Given the description of an element on the screen output the (x, y) to click on. 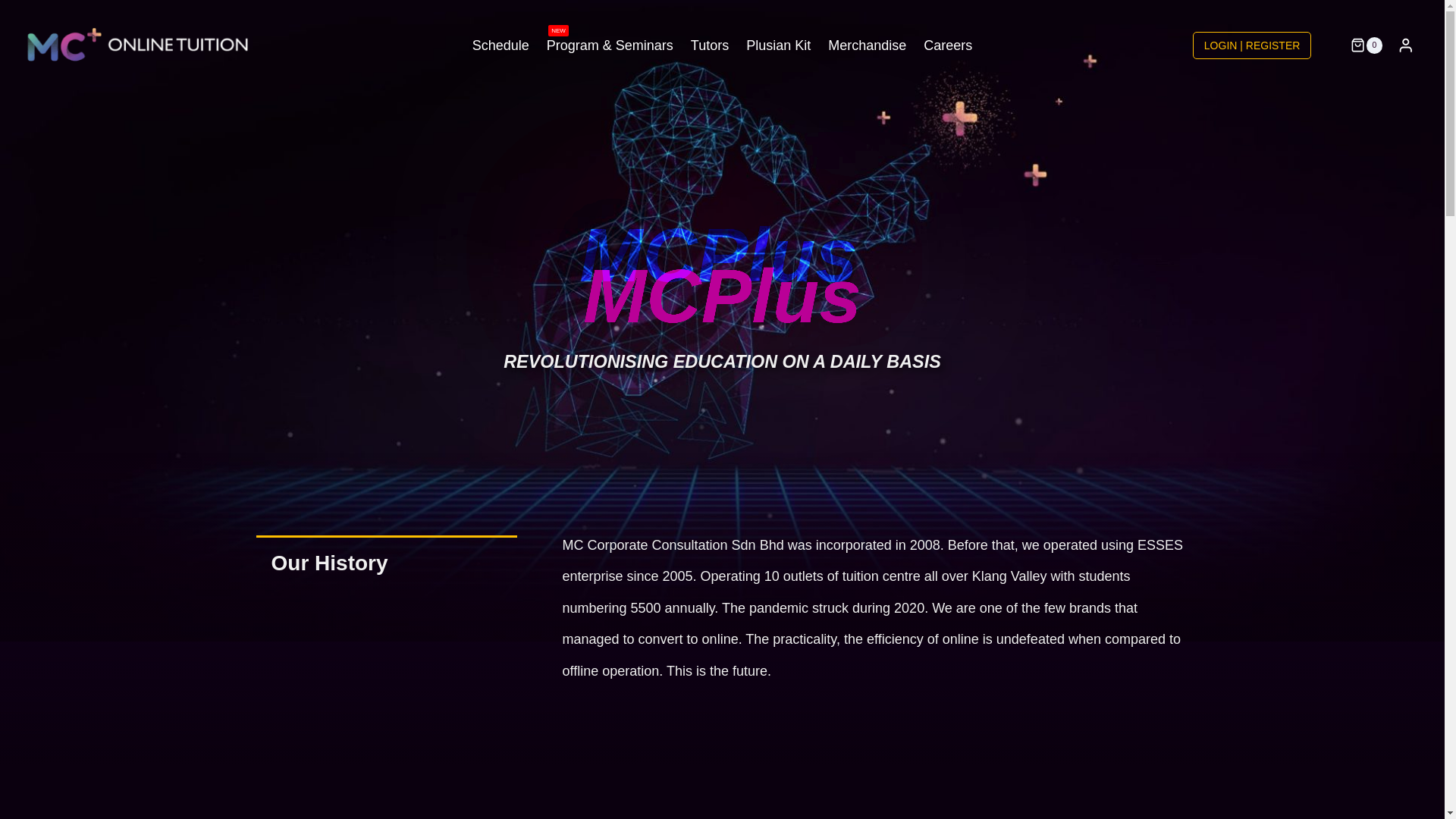
Merchandise (867, 45)
Schedule (500, 45)
Plusian Kit (778, 45)
0 (1353, 45)
